Given the description of an element on the screen output the (x, y) to click on. 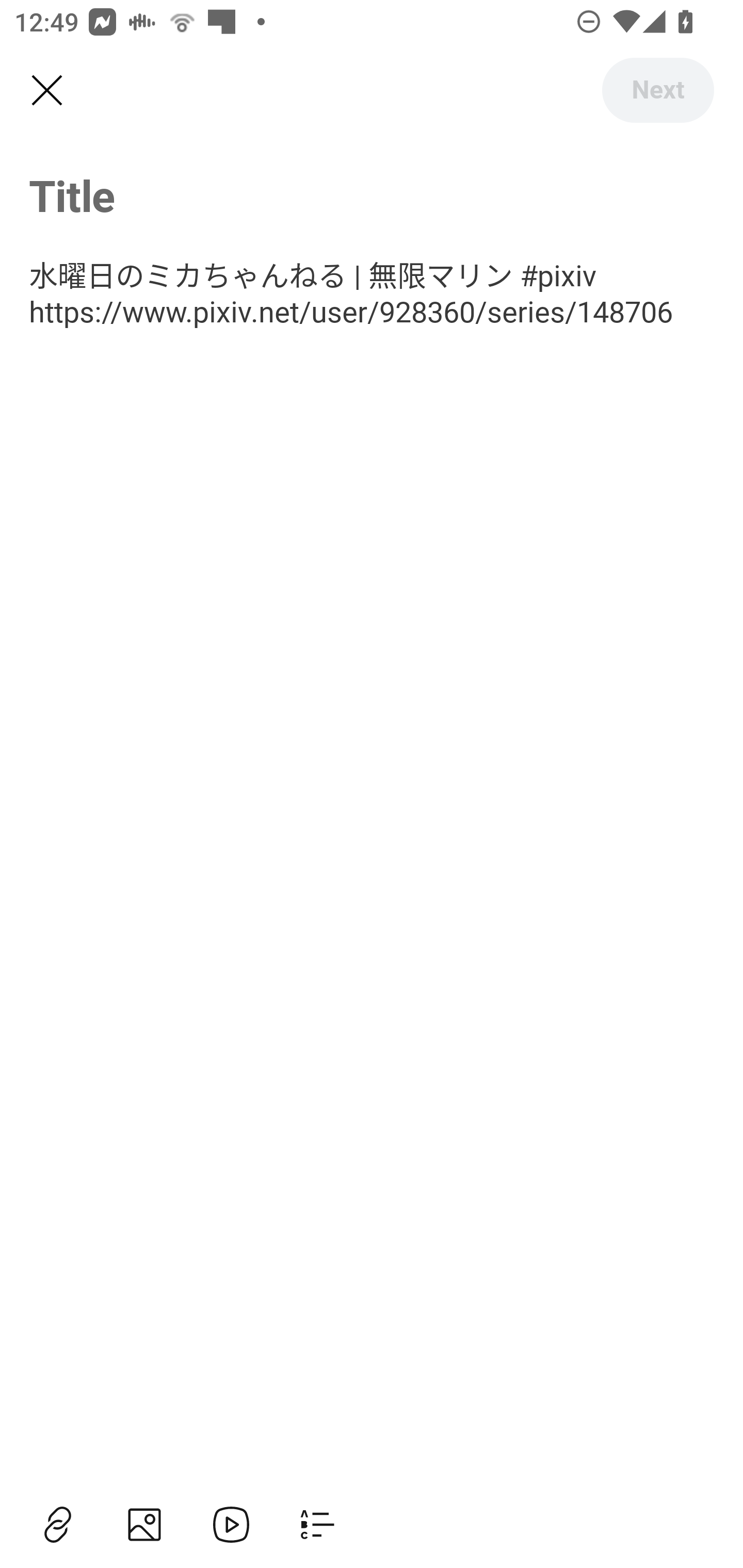
Close (46, 90)
Next (657, 90)
Post title (371, 195)
